Given the description of an element on the screen output the (x, y) to click on. 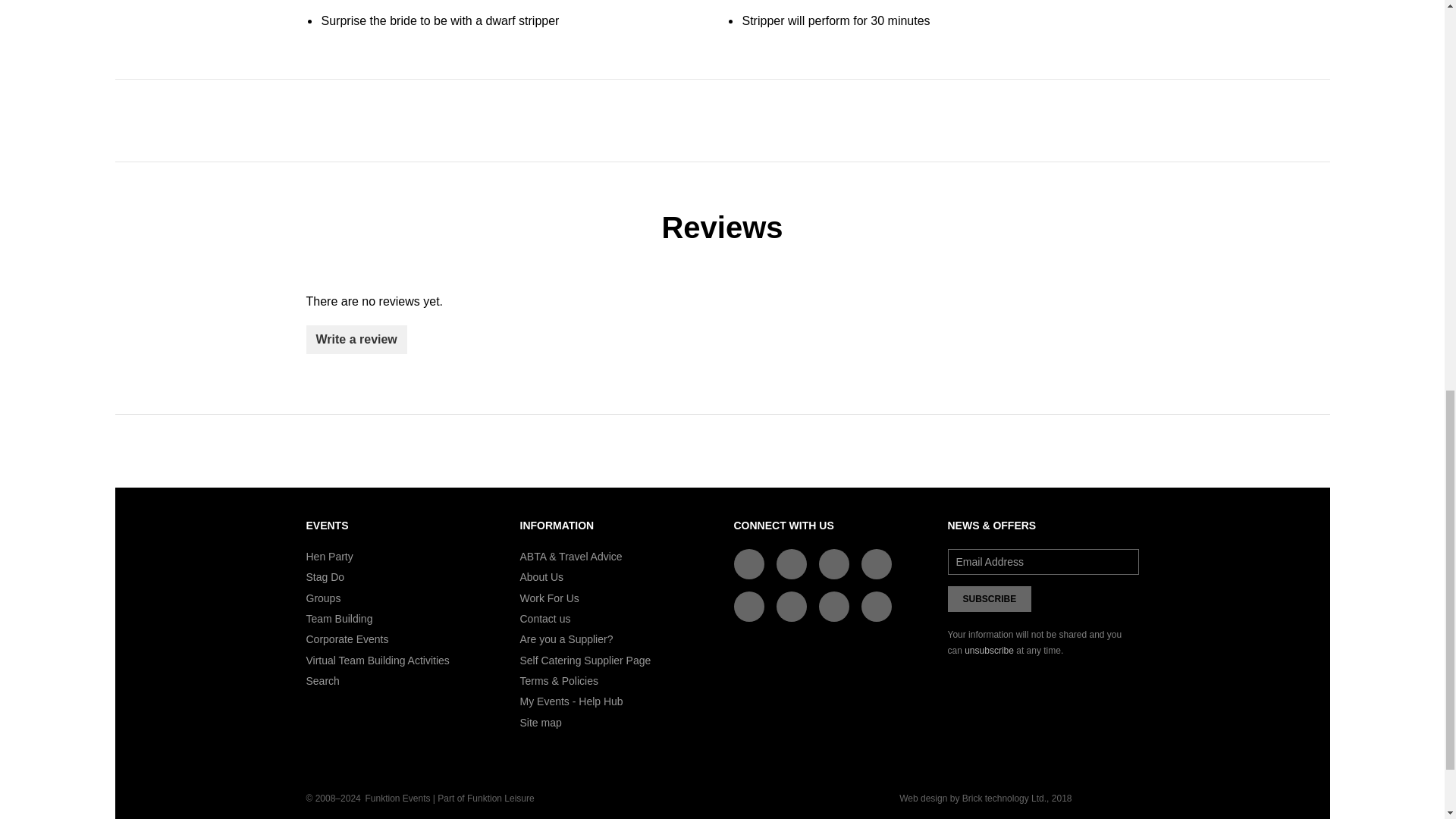
Subscribe (989, 598)
Find event you are looking for (322, 681)
